Given the description of an element on the screen output the (x, y) to click on. 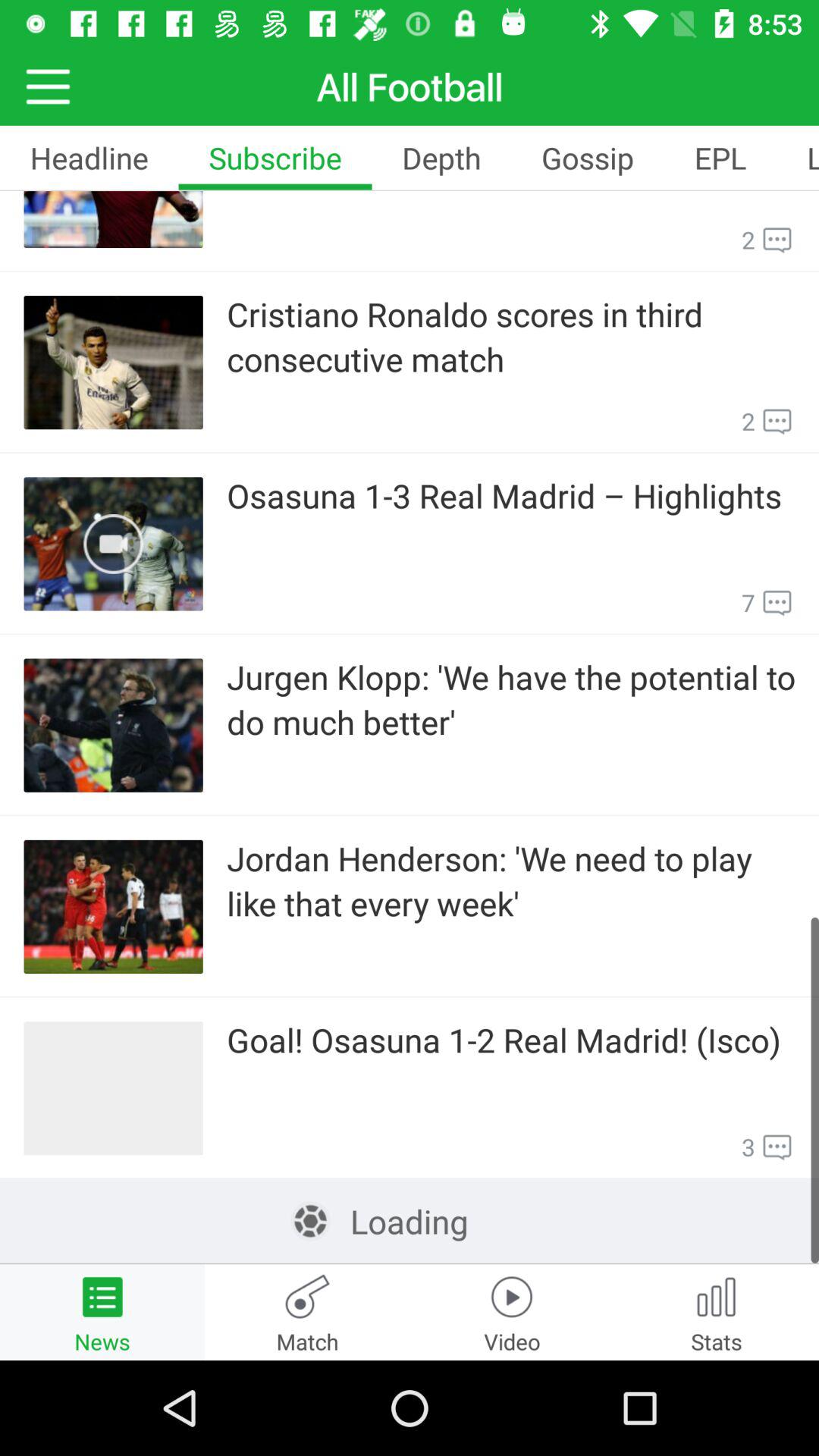
select the first image (113, 218)
select the icon which says match (306, 1311)
click on icon left to loading (310, 1221)
second option image from bottom of the list (113, 907)
